Given the description of an element on the screen output the (x, y) to click on. 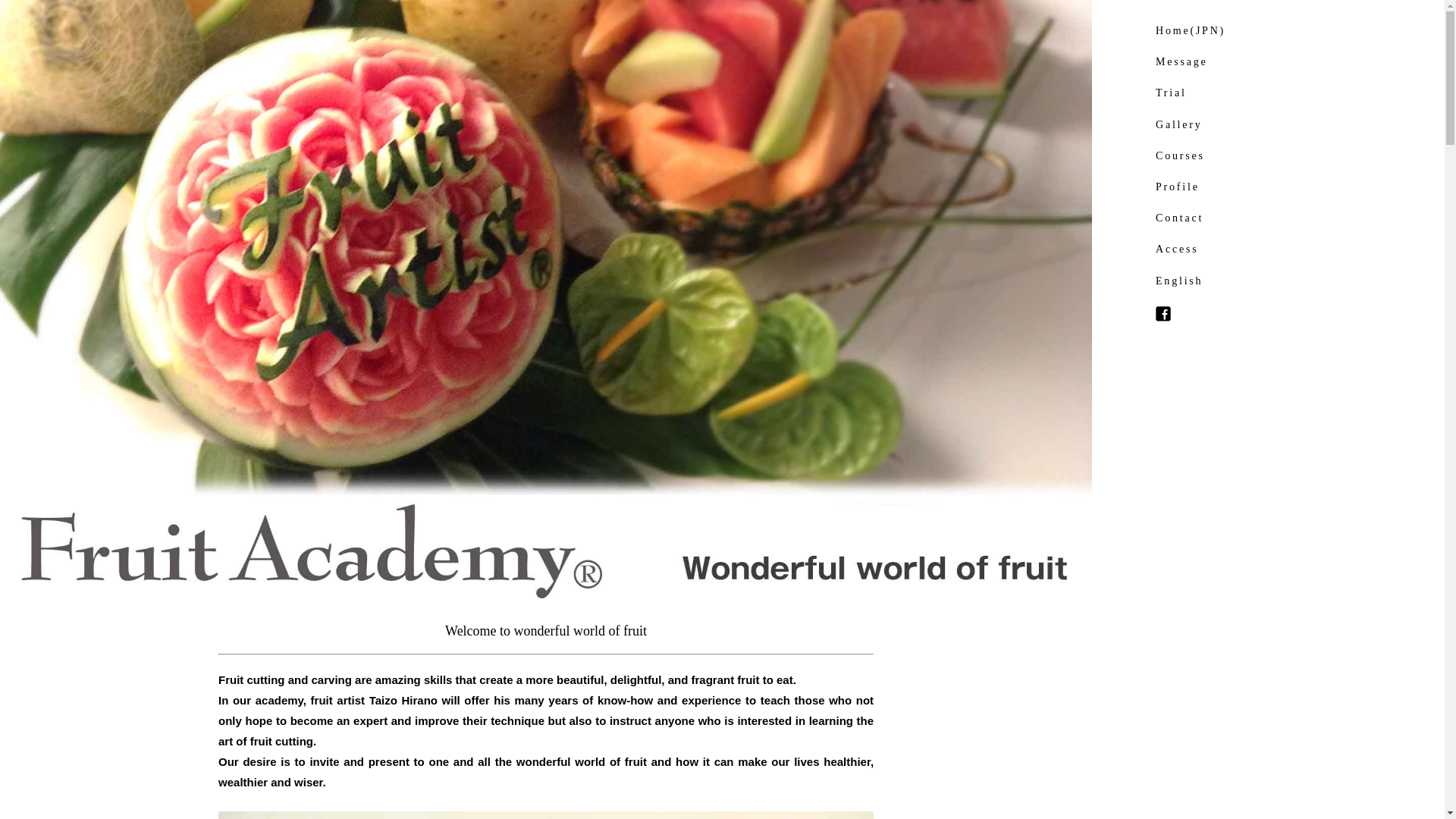
English (1179, 279)
Gallery (1179, 124)
Trial (1171, 92)
Contact (1180, 217)
Access (1177, 248)
Profile (1177, 186)
Courses (1180, 155)
Message (1182, 61)
